Given the description of an element on the screen output the (x, y) to click on. 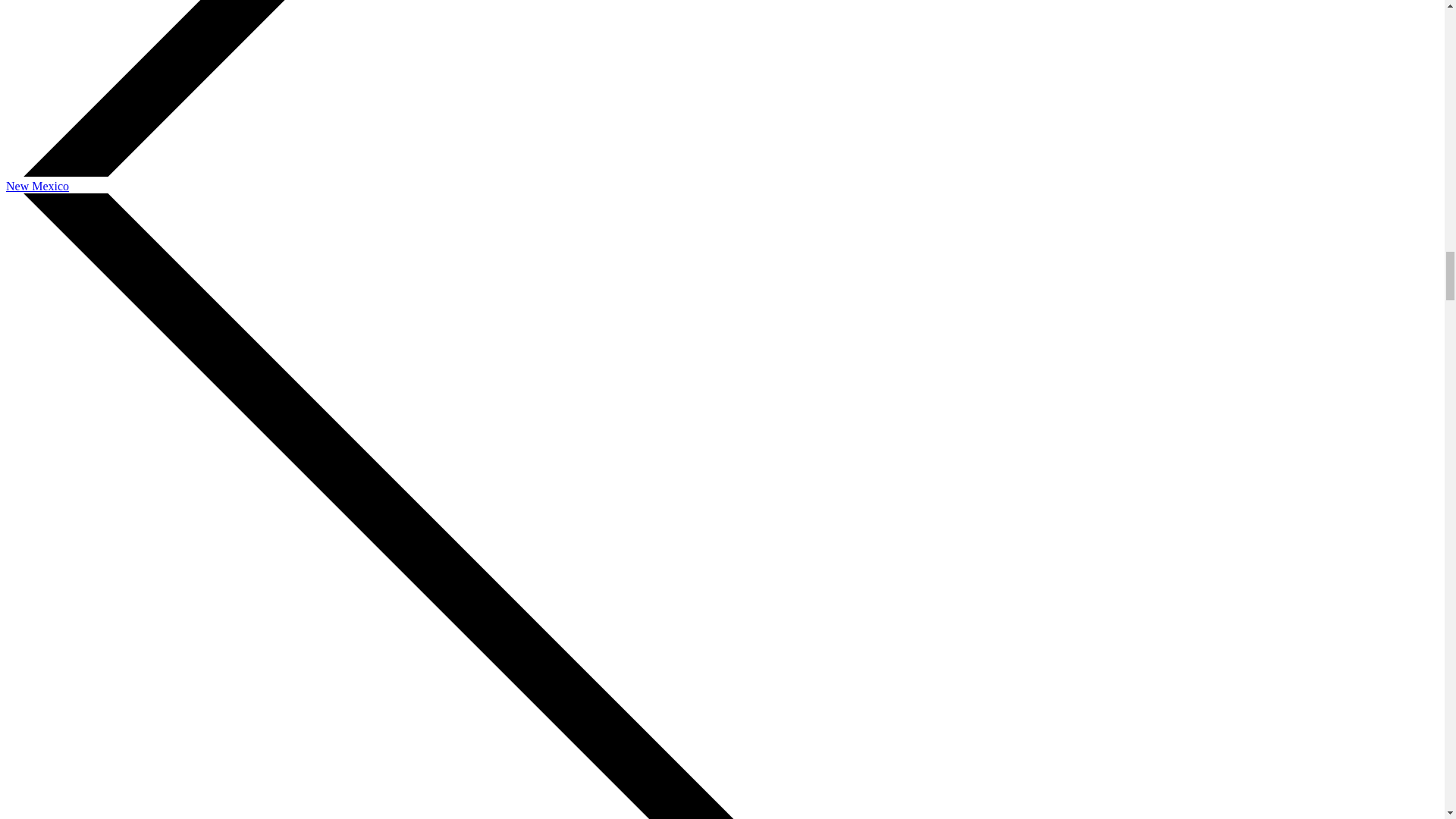
New Mexico (36, 185)
